Given the description of an element on the screen output the (x, y) to click on. 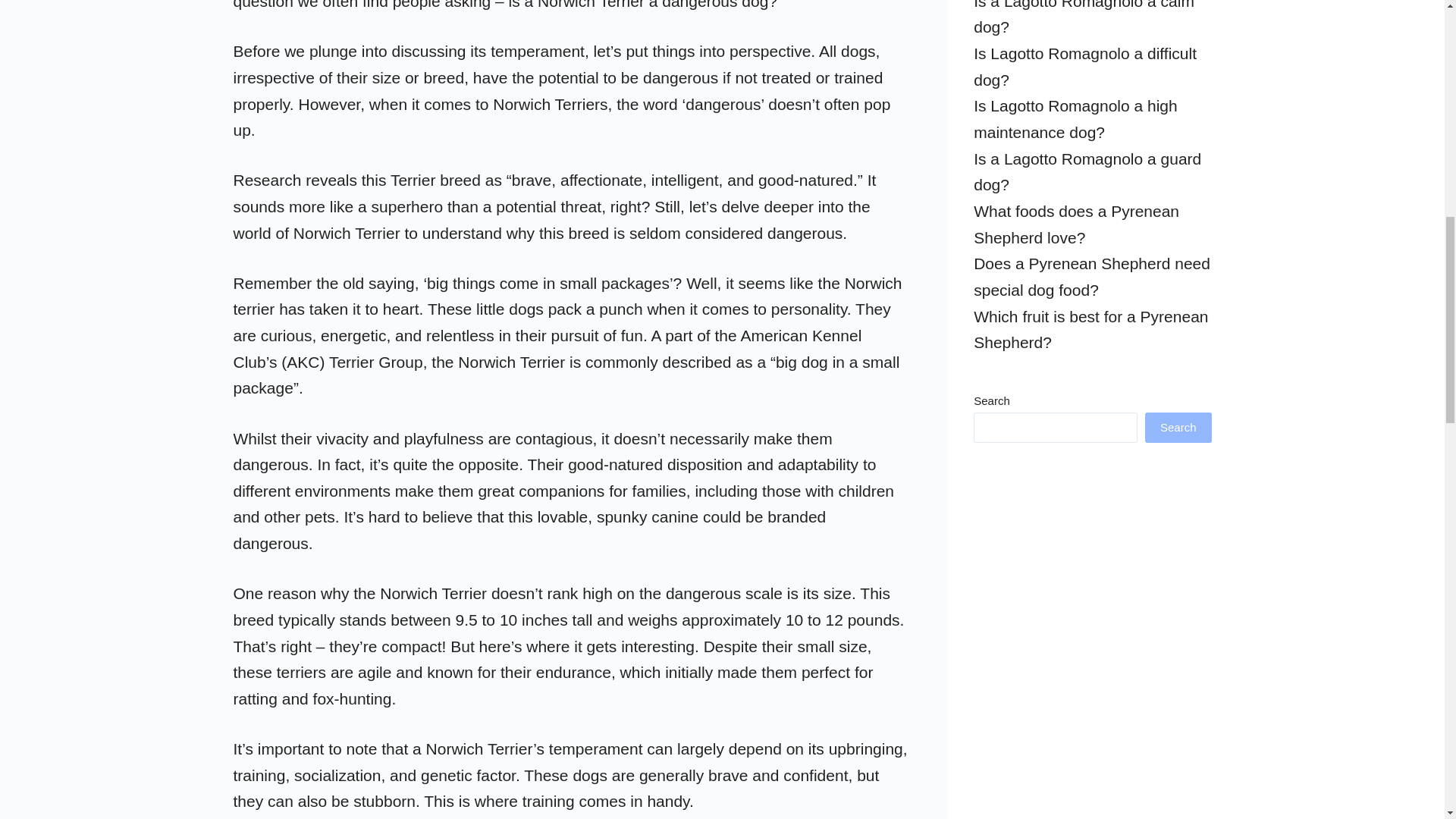
Is Lagotto Romagnolo a high maintenance dog? (1075, 118)
What foods does a Pyrenean Shepherd love? (1076, 224)
Search (1177, 427)
Does a Pyrenean Shepherd need special dog food? (1091, 276)
Is a Lagotto Romagnolo a calm dog? (1083, 18)
Is Lagotto Romagnolo a difficult dog? (1085, 66)
Is a Lagotto Romagnolo a guard dog? (1087, 171)
Which fruit is best for a Pyrenean Shepherd? (1091, 329)
